Given the description of an element on the screen output the (x, y) to click on. 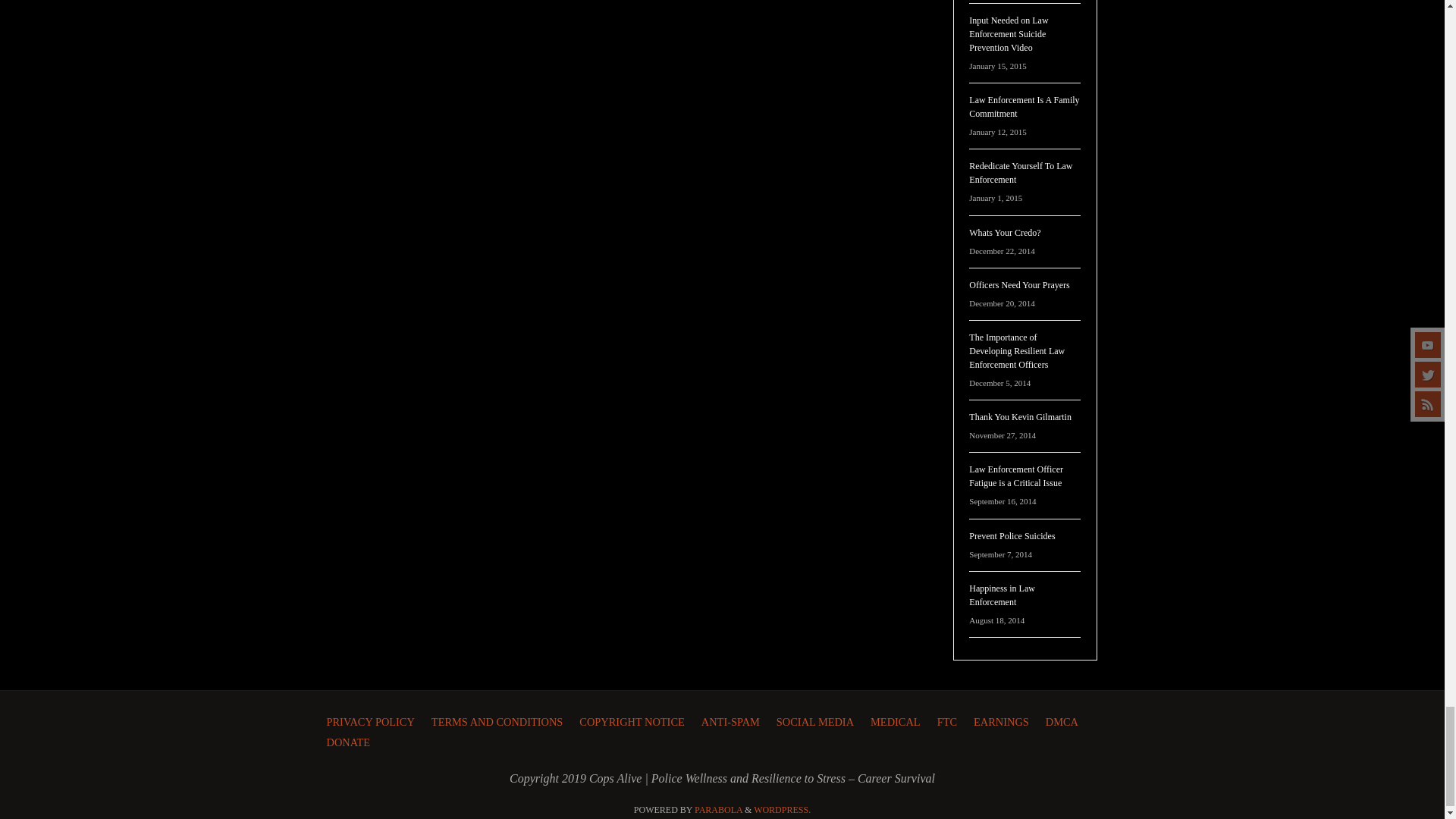
Parabola Theme by Cryout Creations (718, 809)
Semantic Personal Publishing Platform (782, 809)
